Given the description of an element on the screen output the (x, y) to click on. 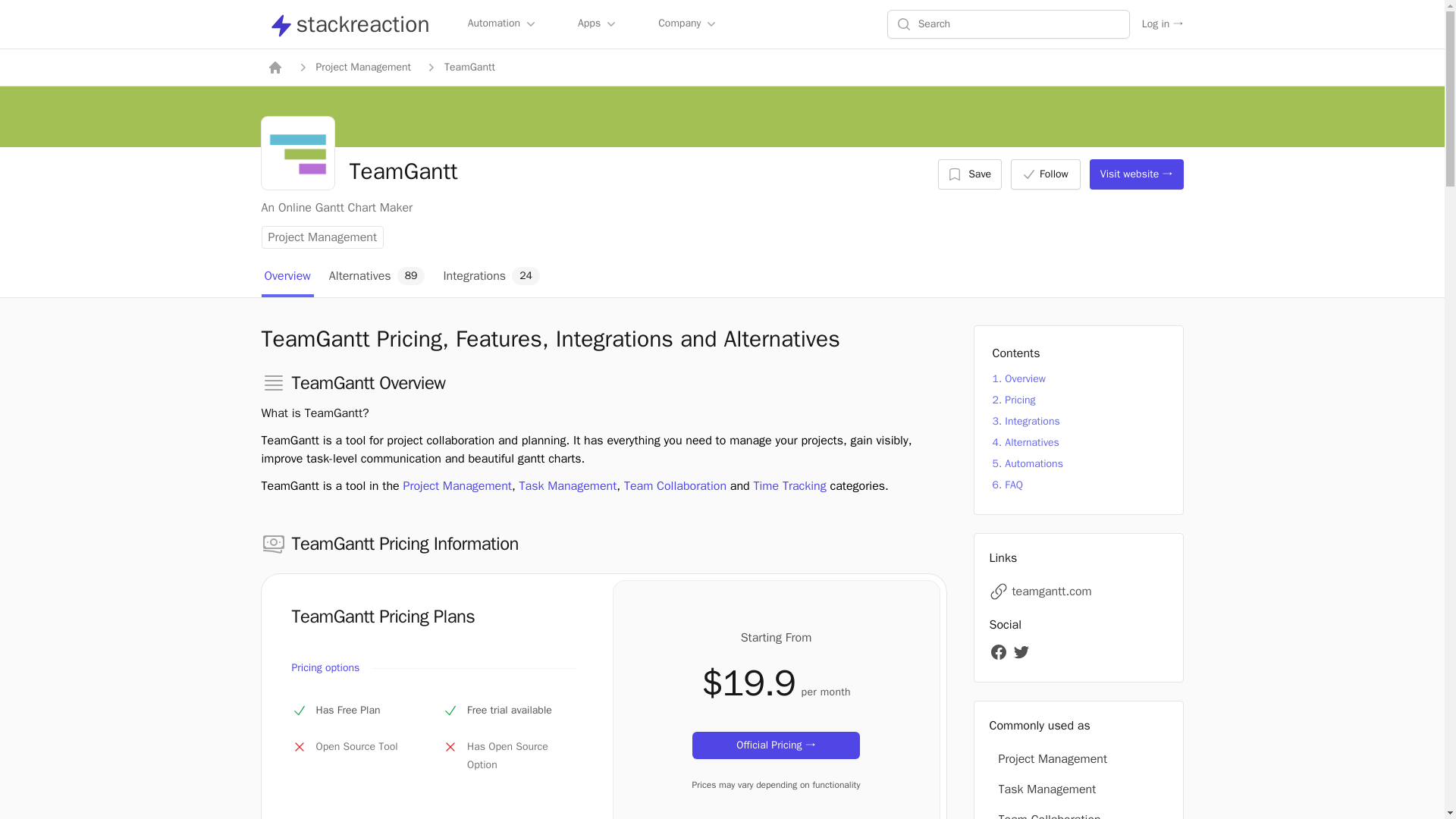
Project Management (491, 277)
Automation (321, 237)
Team Collaboration (502, 23)
Company (675, 485)
Follow (346, 23)
Project Management (377, 277)
Task Management (688, 23)
TeamGantt (1045, 173)
Save (362, 67)
Overview (566, 485)
Project Management (296, 152)
